Given the description of an element on the screen output the (x, y) to click on. 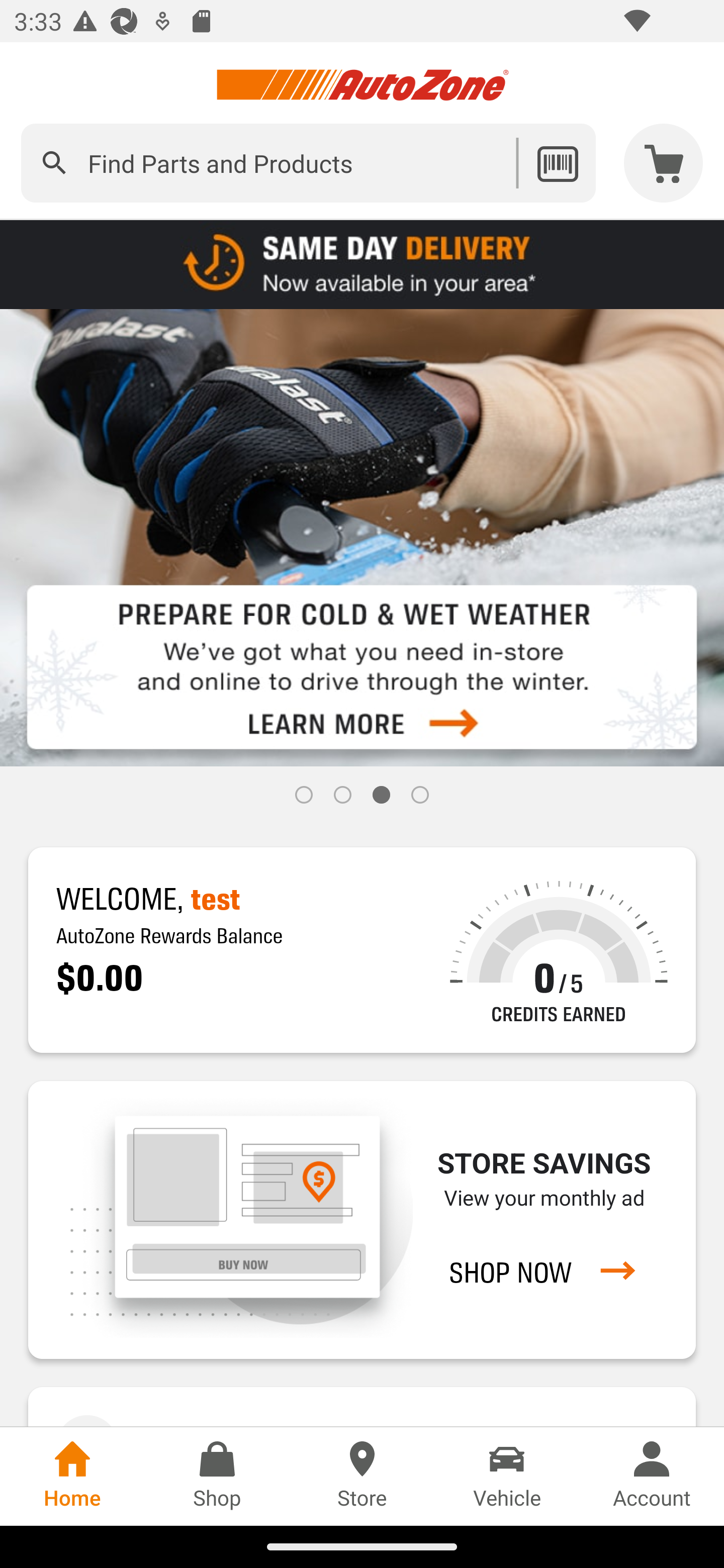
 scan-product-to-search  (557, 162)
 (54, 163)
Cart, no items  (663, 162)
Same Day Delivery - now available in your area* (362, 262)
Home (72, 1475)
Shop (216, 1475)
Store (361, 1475)
Vehicle (506, 1475)
Account (651, 1475)
